Given the description of an element on the screen output the (x, y) to click on. 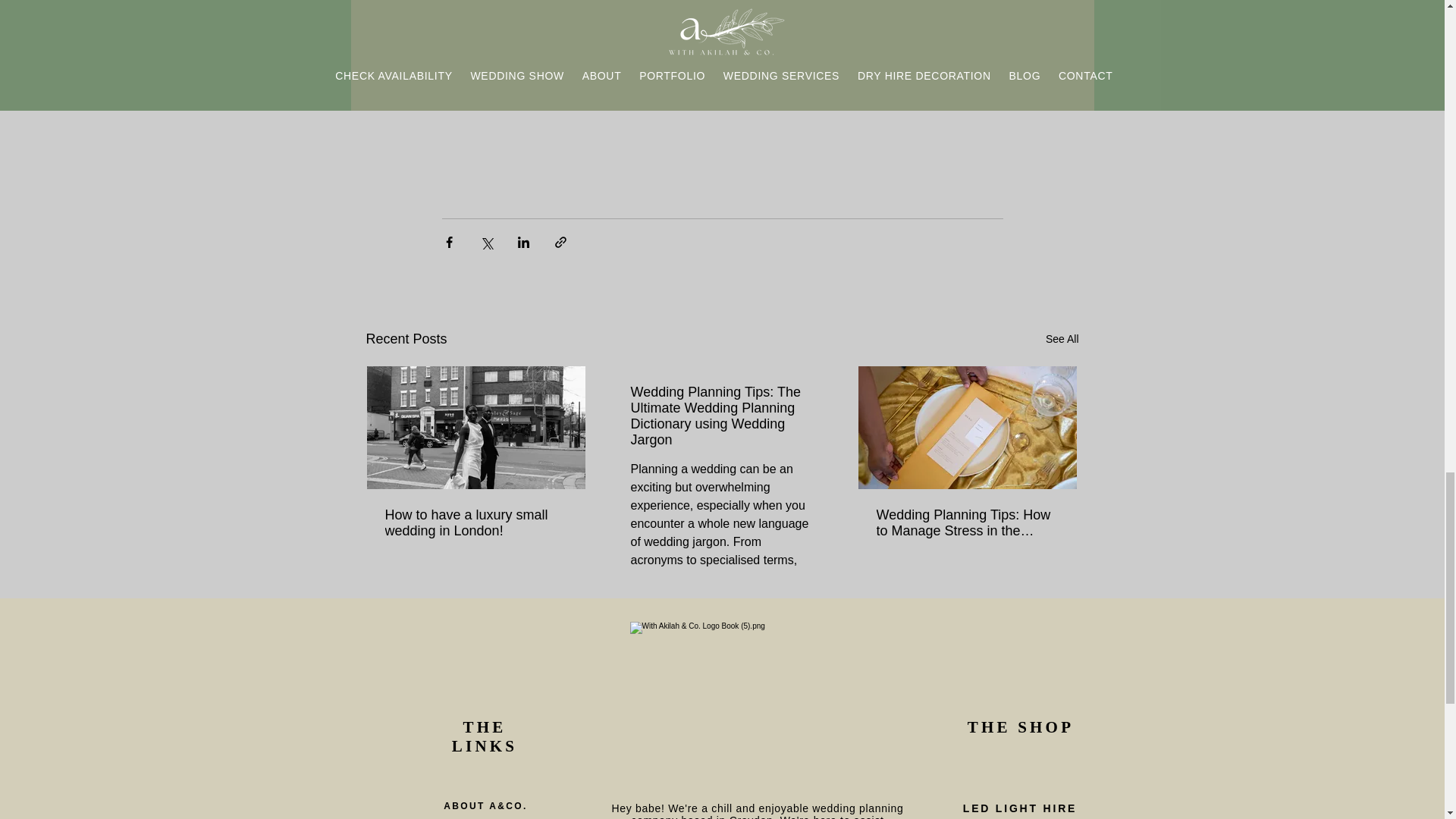
See All (1061, 339)
LED LIGHT HIRE (1019, 808)
How to have a luxury small wedding in London! (476, 522)
